Given the description of an element on the screen output the (x, y) to click on. 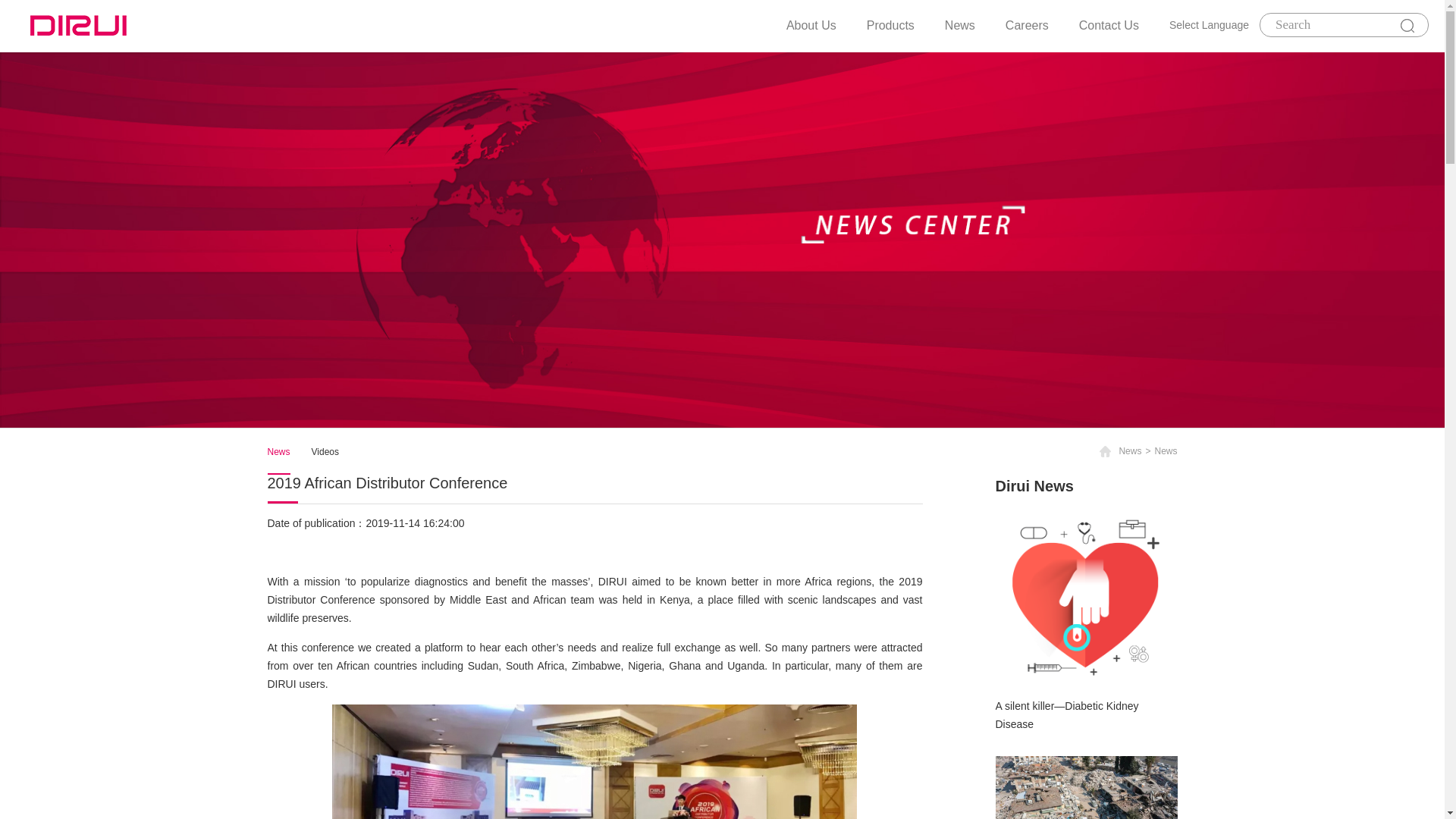
About Us (810, 24)
News (277, 451)
Videos (325, 451)
Products (890, 24)
News (1165, 451)
Contact Us (1108, 24)
News (1129, 451)
News (959, 24)
Select Language (1209, 25)
Careers (1027, 24)
